Given the description of an element on the screen output the (x, y) to click on. 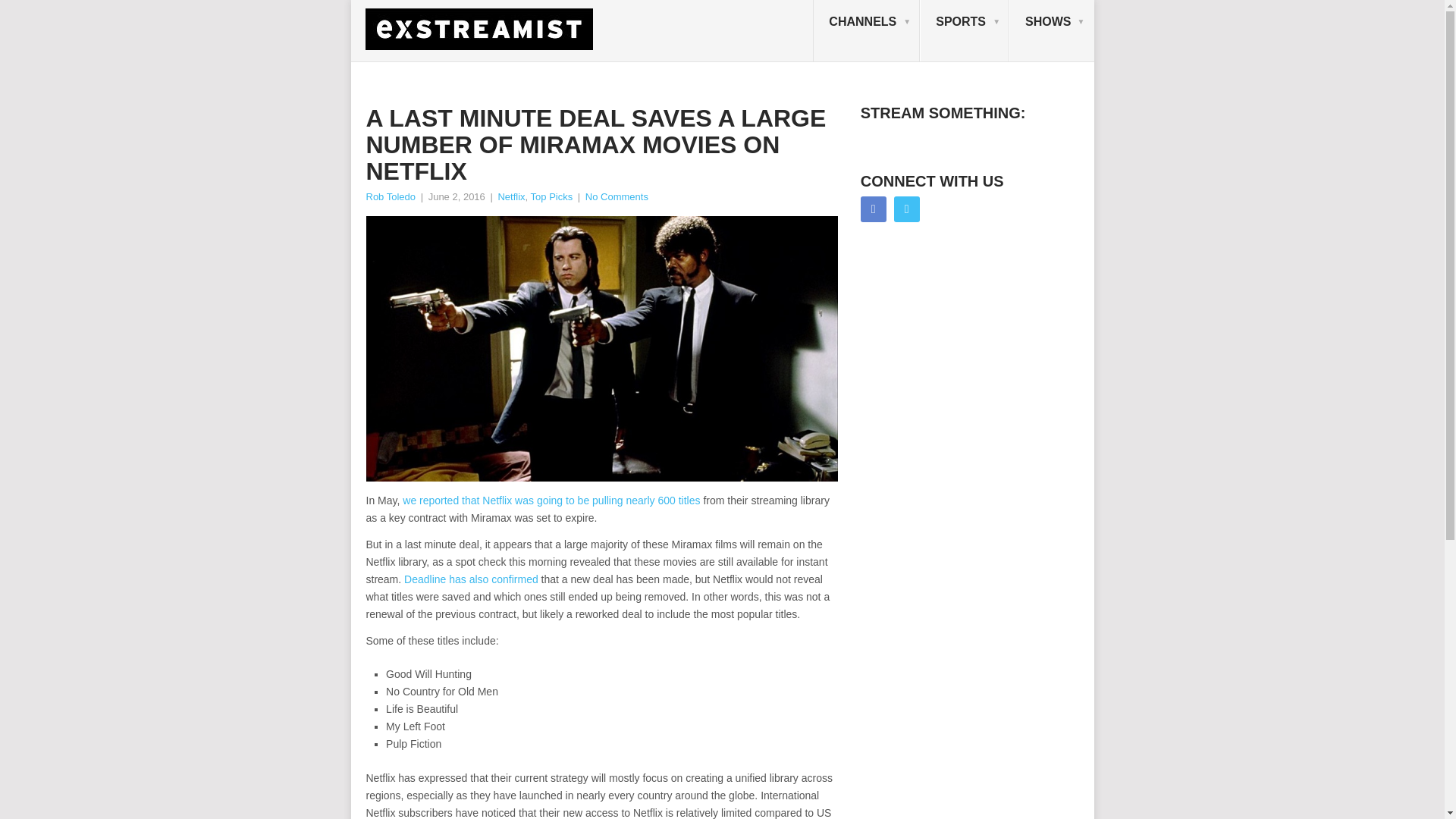
SPORTS (964, 31)
Twitter (906, 208)
Posts by Rob Toledo (389, 196)
Watch TV Shows Online (1051, 31)
Facebook (873, 208)
Watch Sports Online (964, 31)
Watch TV Channels Online (866, 31)
CHANNELS (866, 31)
